Given the description of an element on the screen output the (x, y) to click on. 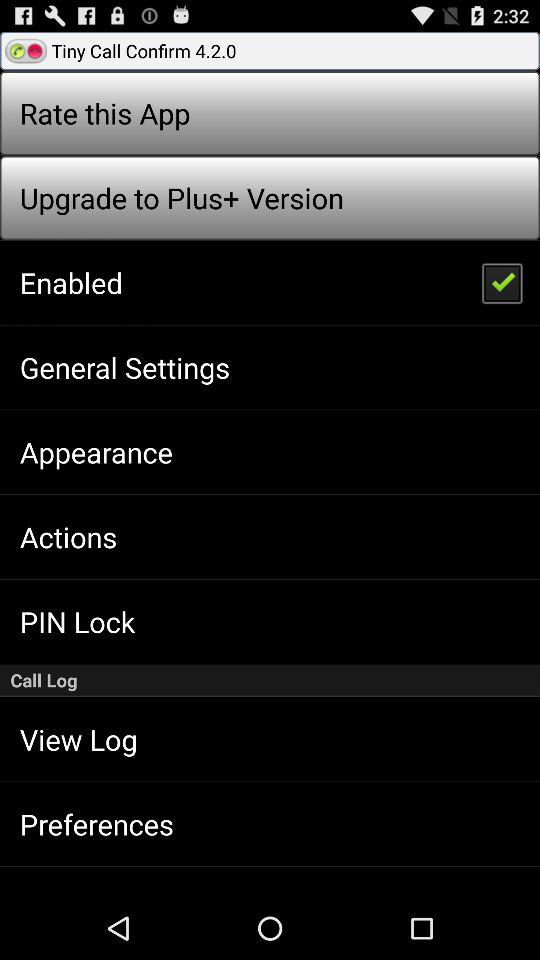
turn on item below enabled app (124, 367)
